Given the description of an element on the screen output the (x, y) to click on. 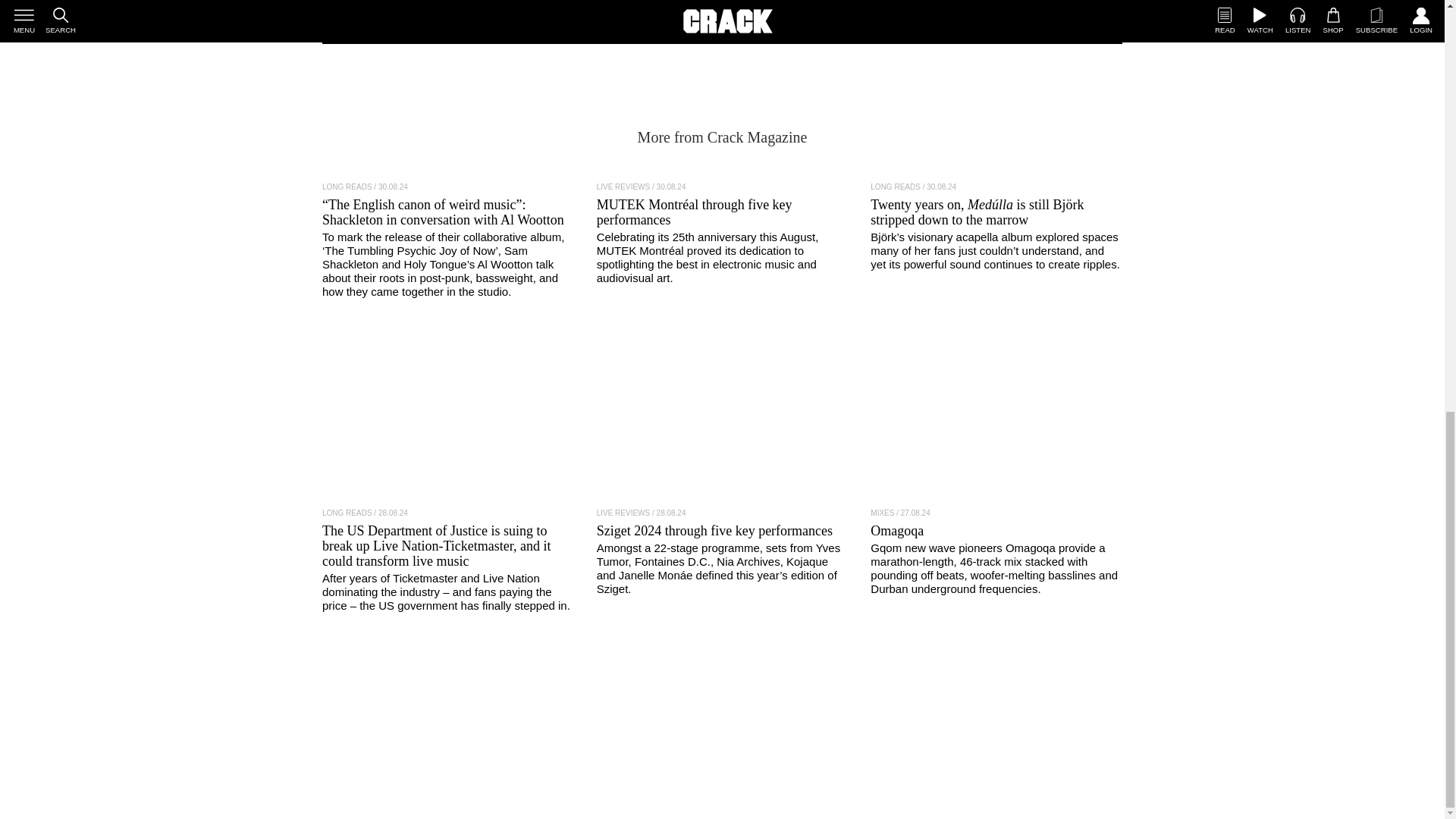
View all posts in Mixes (881, 512)
View all posts in Long Reads (346, 186)
View all posts in Live Reviews (623, 512)
View all posts in Long Reads (895, 186)
View all posts in Long Reads (346, 512)
View all posts in Live Reviews (623, 186)
